Given the description of an element on the screen output the (x, y) to click on. 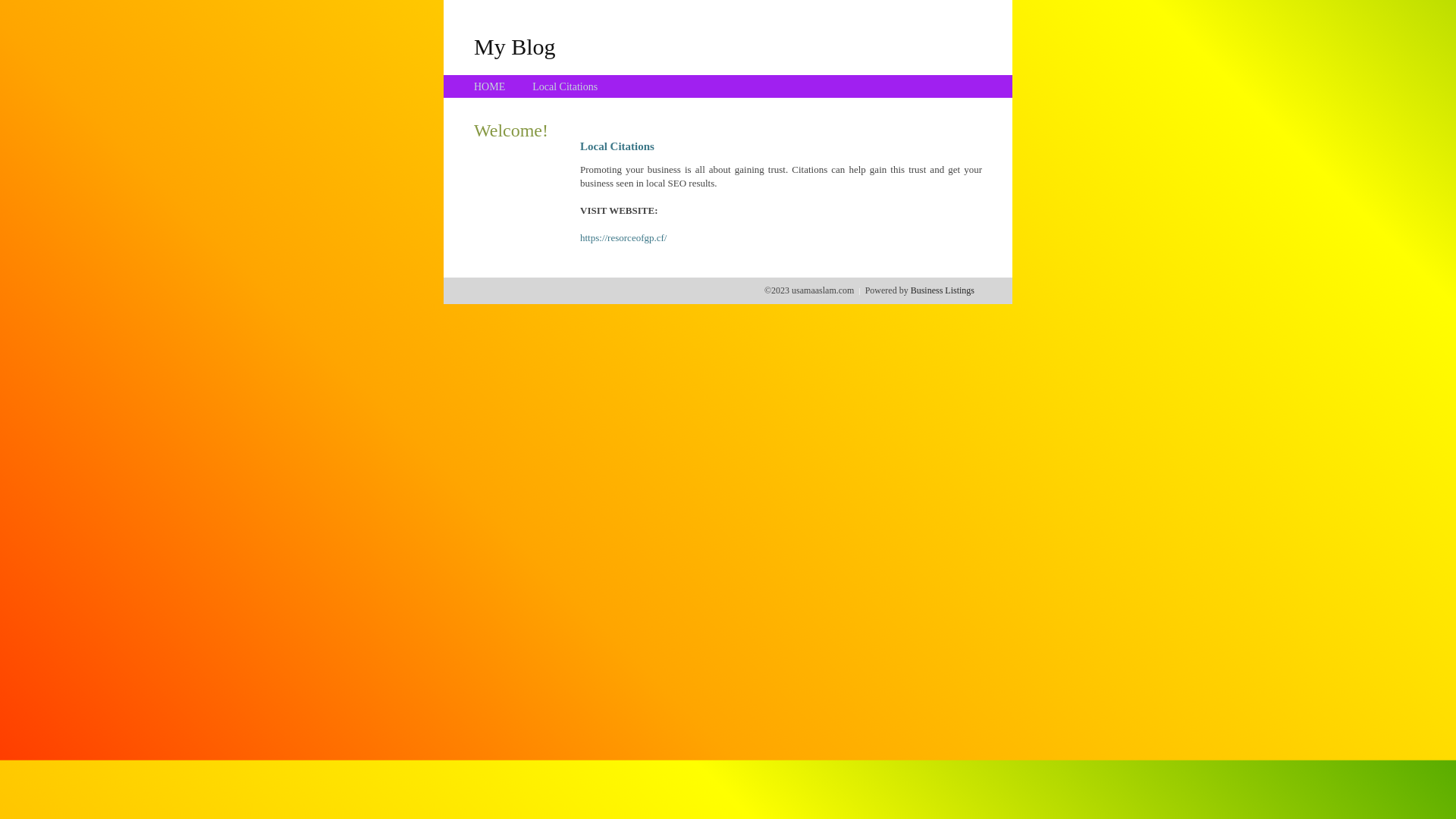
Business Listings Element type: text (942, 290)
My Blog Element type: text (514, 46)
Local Citations Element type: text (564, 86)
HOME Element type: text (489, 86)
https://resorceofgp.cf/ Element type: text (623, 237)
